Given the description of an element on the screen output the (x, y) to click on. 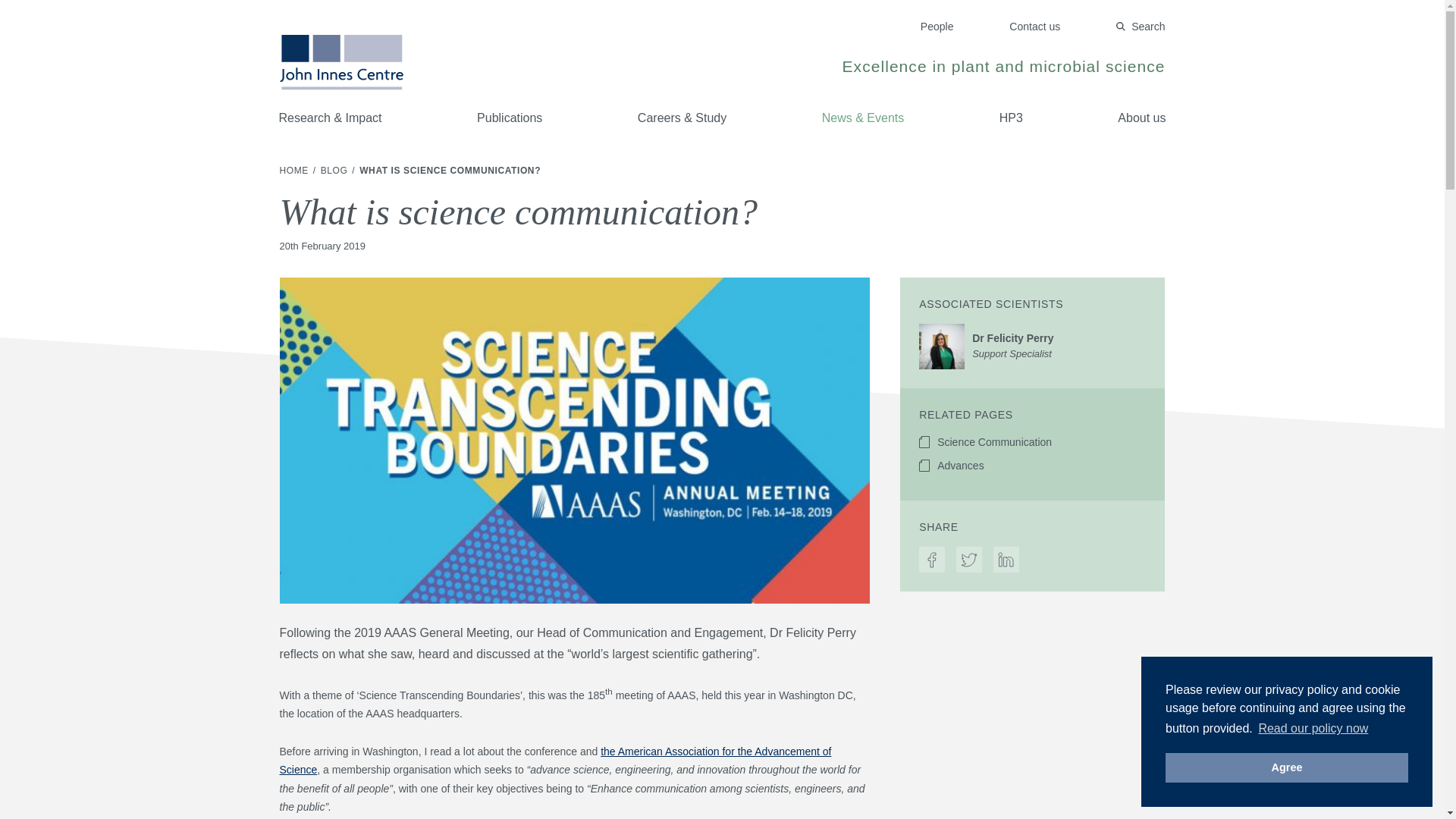
Advances (1031, 465)
the American Association for the Advancement of Science (555, 760)
People (936, 26)
HP3 (1010, 117)
About us (1141, 117)
Agree (1286, 767)
Search (1140, 26)
BLOG (1031, 345)
HOME (335, 170)
Science Communication (295, 170)
Contact us (1031, 441)
Publications (1034, 26)
Read our policy now (509, 117)
